Given the description of an element on the screen output the (x, y) to click on. 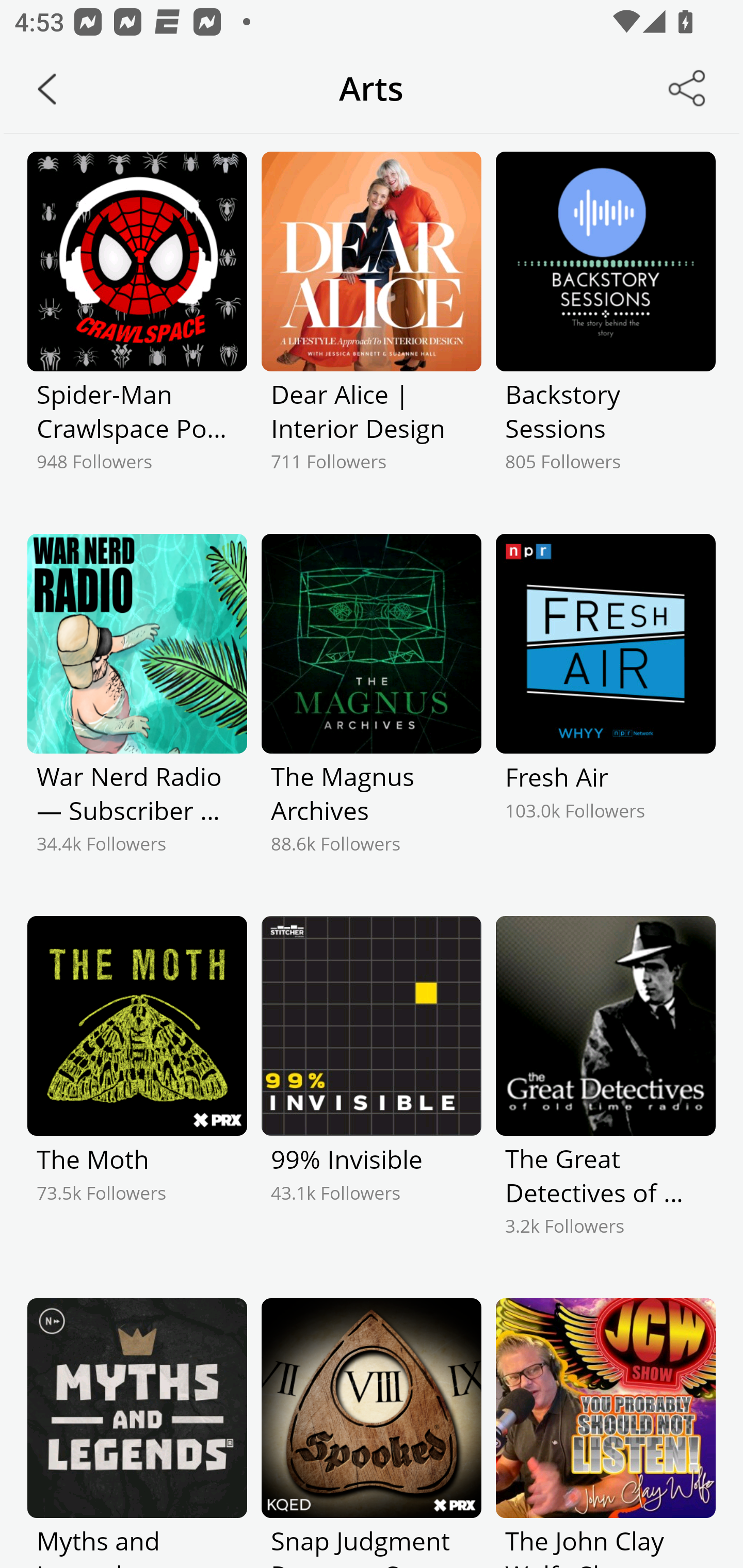
Back (46, 88)
Spider-Man Crawlspace Podcast 948 Followers (137, 329)
Dear Alice | Interior Design 711 Followers (371, 329)
Backstory Sessions 805 Followers (605, 329)
War Nerd Radio — Subscriber Feed 34.4k Followers (137, 711)
The Magnus Archives 88.6k Followers (371, 711)
Fresh Air 103.0k Followers (605, 711)
The Moth 73.5k Followers (137, 1093)
99% Invisible 43.1k Followers (371, 1093)
Myths and Legends (137, 1433)
Snap Judgment Presents: Spooked (371, 1433)
The John Clay Wolfe Show (605, 1433)
